Given the description of an element on the screen output the (x, y) to click on. 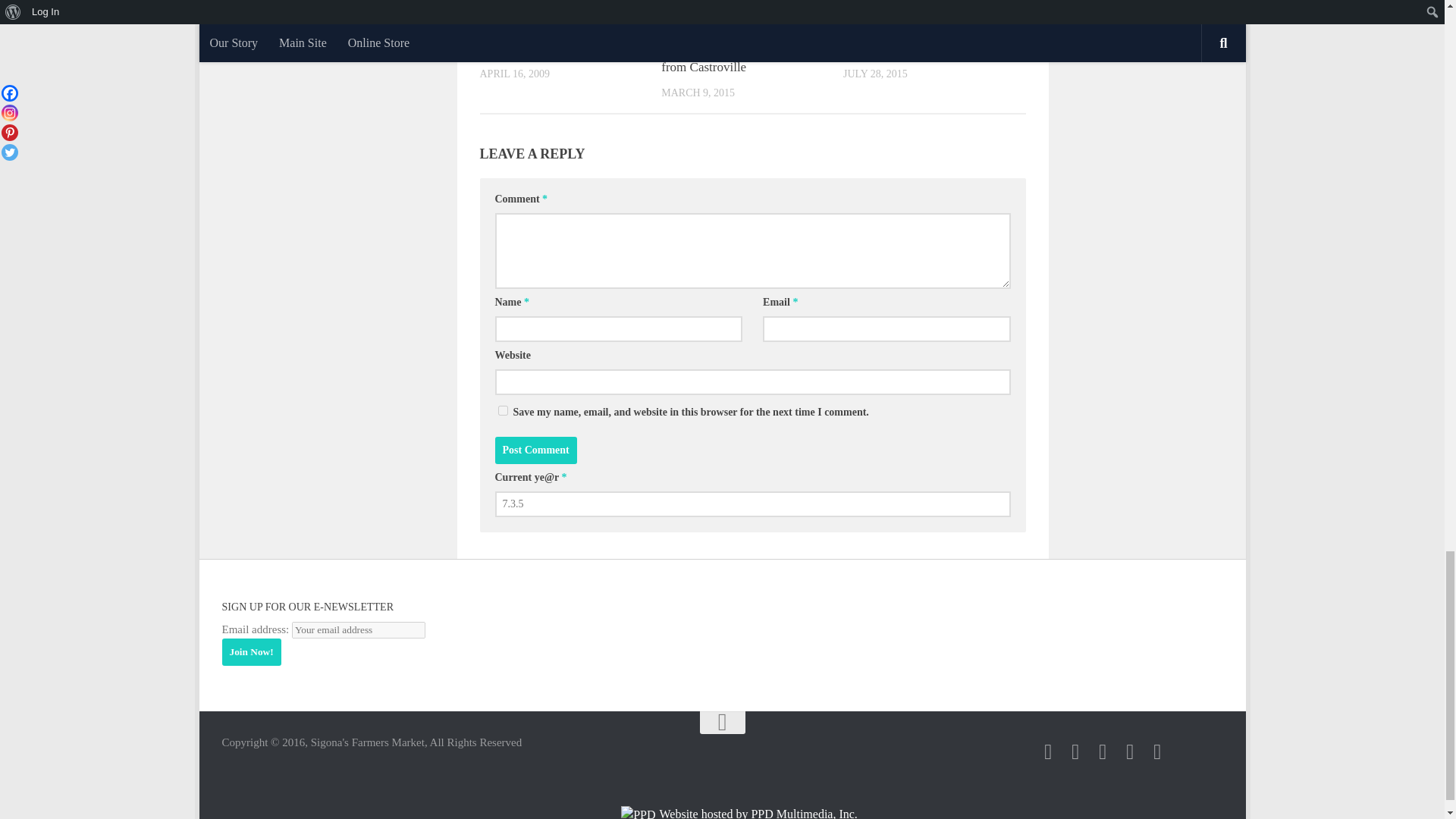
Permalink to Bonus: Interview with Esteban Martinez (559, 38)
Post Comment (535, 450)
yes (501, 410)
Join Now! (251, 651)
7.3.5 (752, 503)
